Given the description of an element on the screen output the (x, y) to click on. 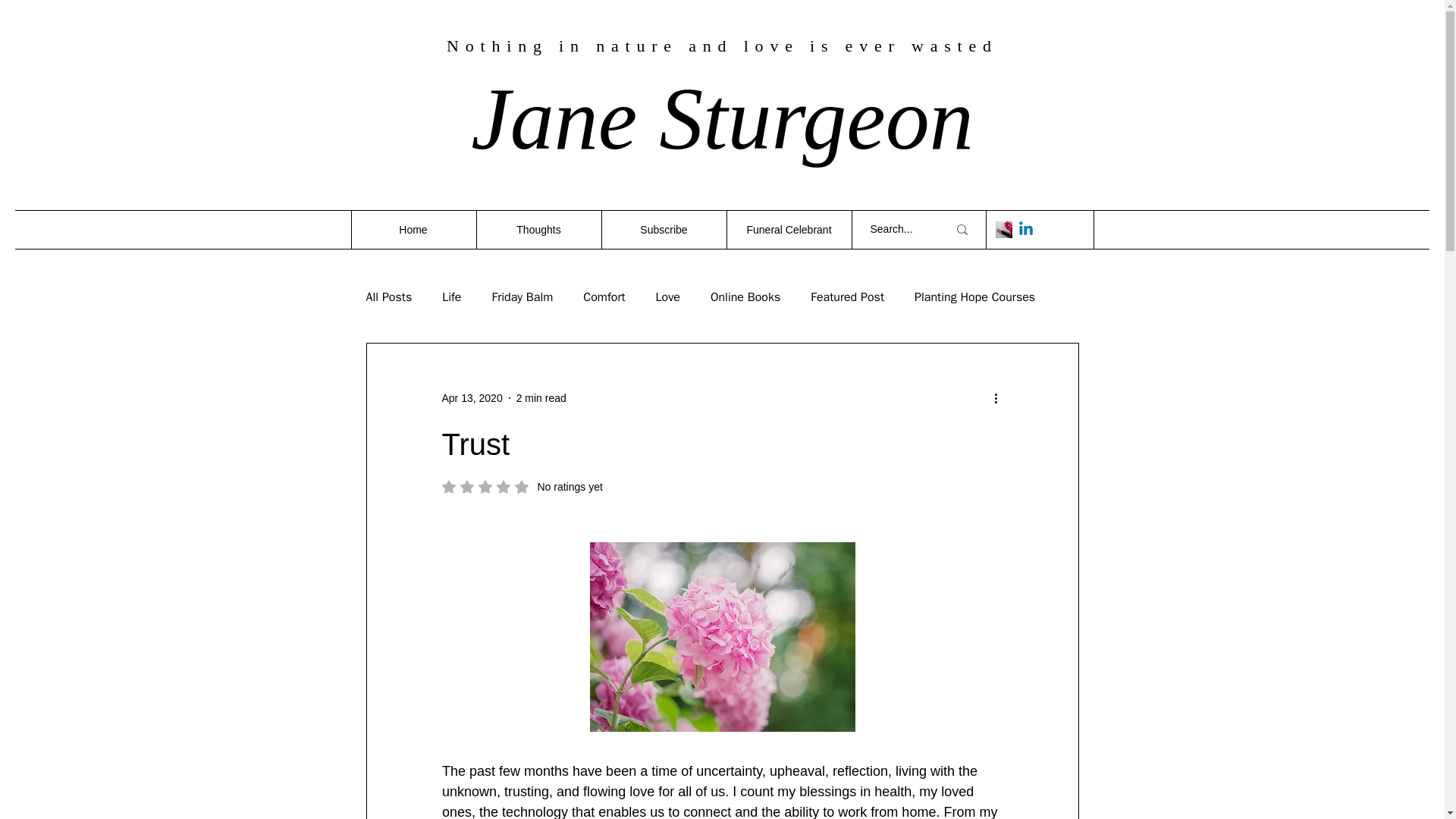
Comfort (603, 297)
All Posts (388, 297)
Home (413, 229)
Online Books (745, 297)
Apr 13, 2020 (521, 486)
2 min read (471, 397)
Friday Balm (541, 397)
Love (522, 297)
Featured Post (667, 297)
Jane Sturgeon (846, 297)
Life (722, 118)
Subscribe (451, 297)
Thoughts (662, 229)
Planting Hope Courses (538, 229)
